Given the description of an element on the screen output the (x, y) to click on. 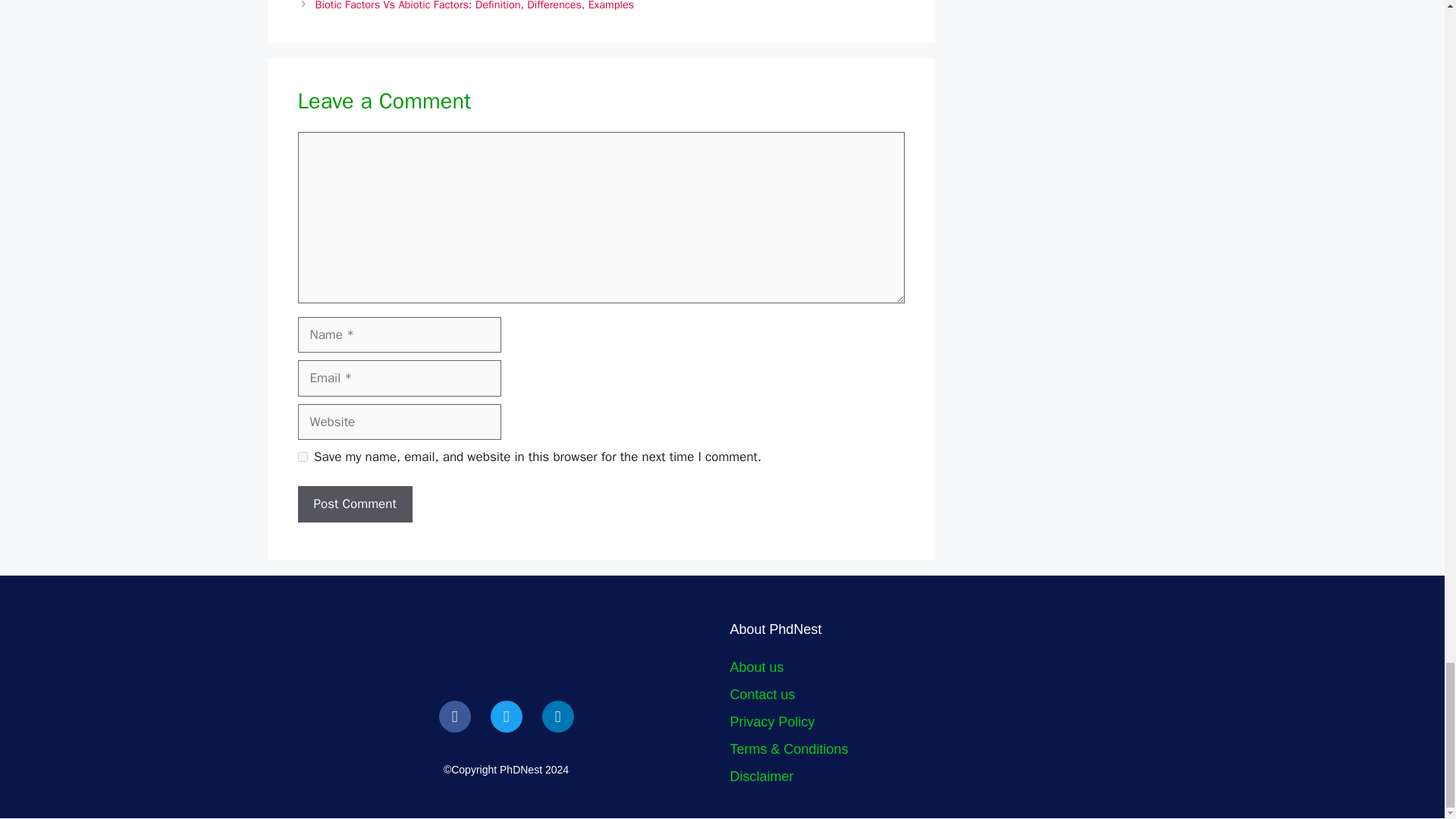
Post Comment (354, 504)
yes (302, 456)
